Given the description of an element on the screen output the (x, y) to click on. 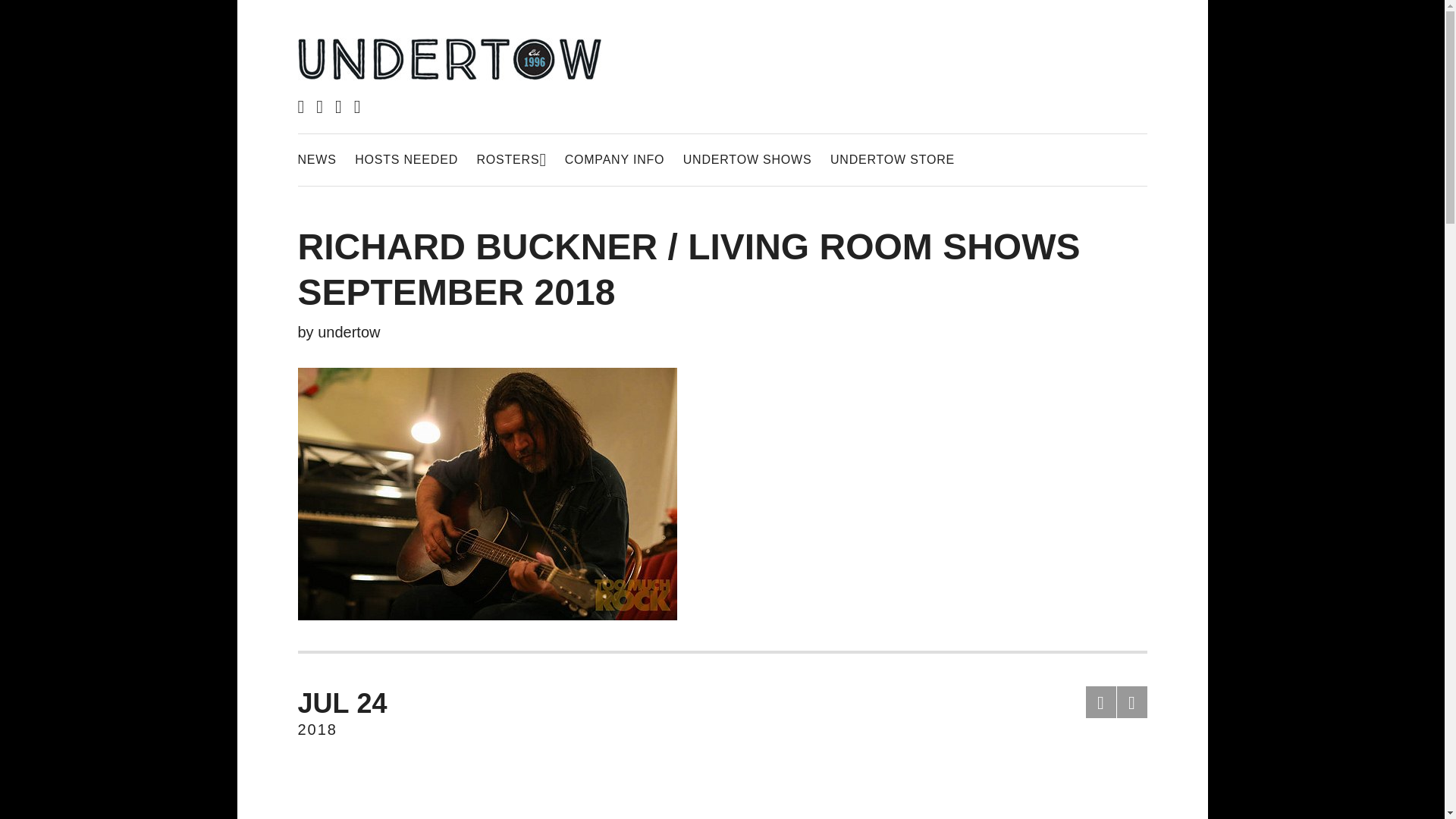
COMPANY INFO (614, 159)
NEWS (316, 159)
undertow (348, 331)
UNDERTOW STORE (892, 159)
UNDERTOW SHOWS (747, 159)
UNDERTOW (404, 136)
HOSTS NEEDED (511, 159)
